Given the description of an element on the screen output the (x, y) to click on. 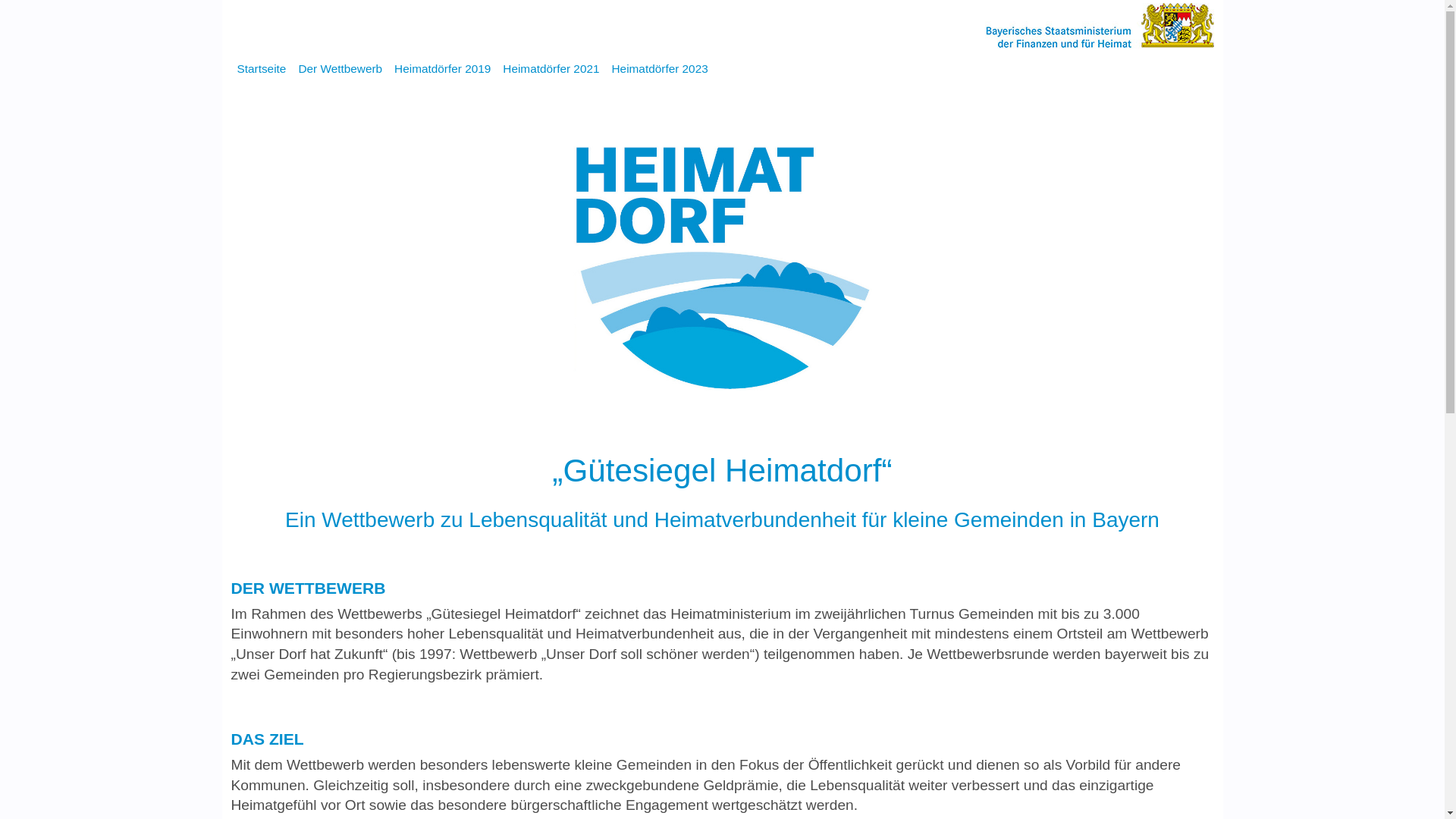
Zur Startseite Element type: hover (1098, 24)
Der Wettbewerb Element type: text (339, 68)
Startseite Element type: text (260, 68)
